Given the description of an element on the screen output the (x, y) to click on. 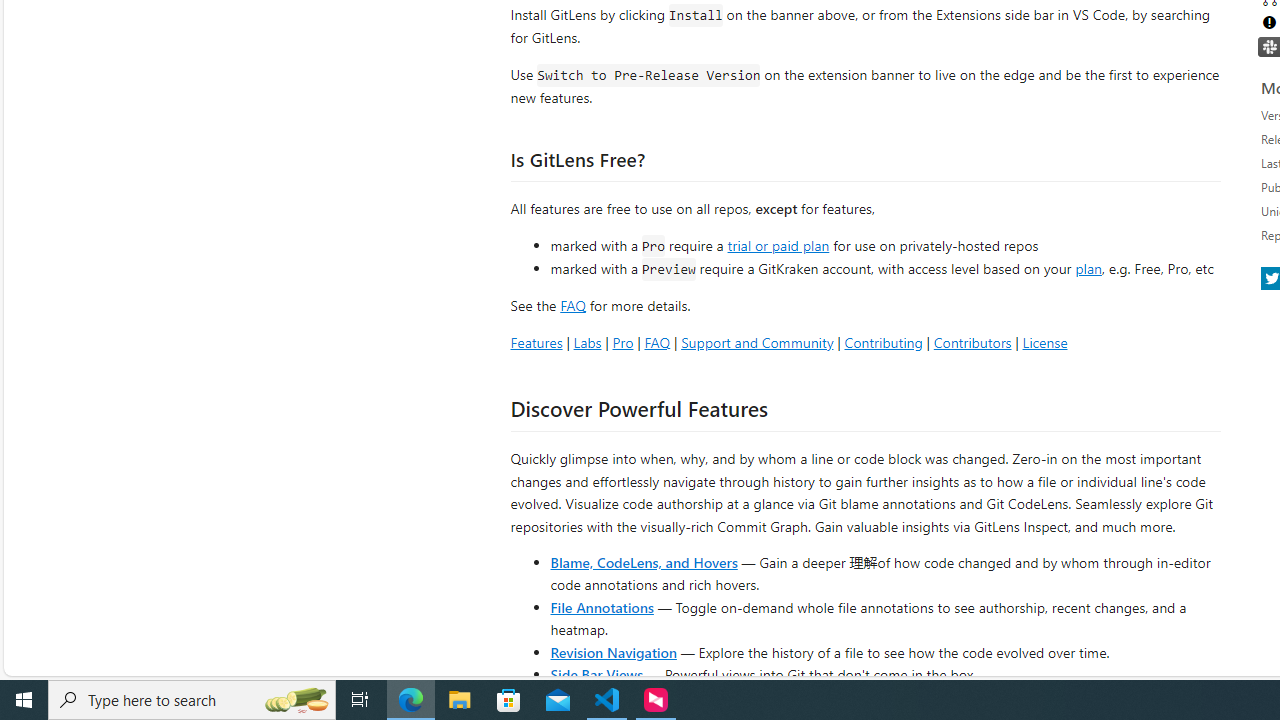
File Annotations (602, 606)
Pro (622, 341)
Support and Community (757, 341)
Labs (587, 341)
Features (536, 341)
